Given the description of an element on the screen output the (x, y) to click on. 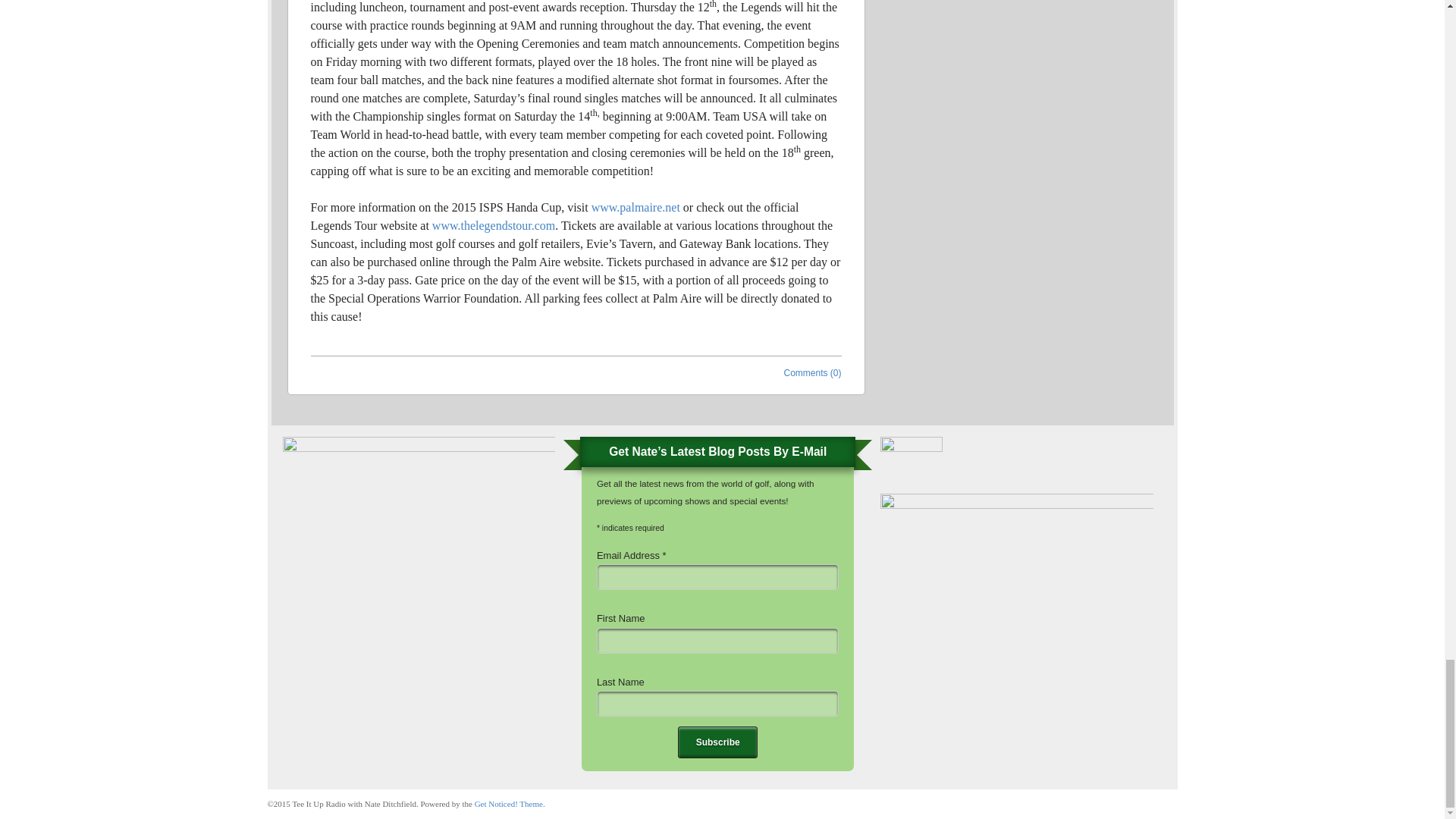
www.thelegendstour.com (493, 225)
Subscribe (717, 742)
www.palmaire.net (635, 206)
